Given the description of an element on the screen output the (x, y) to click on. 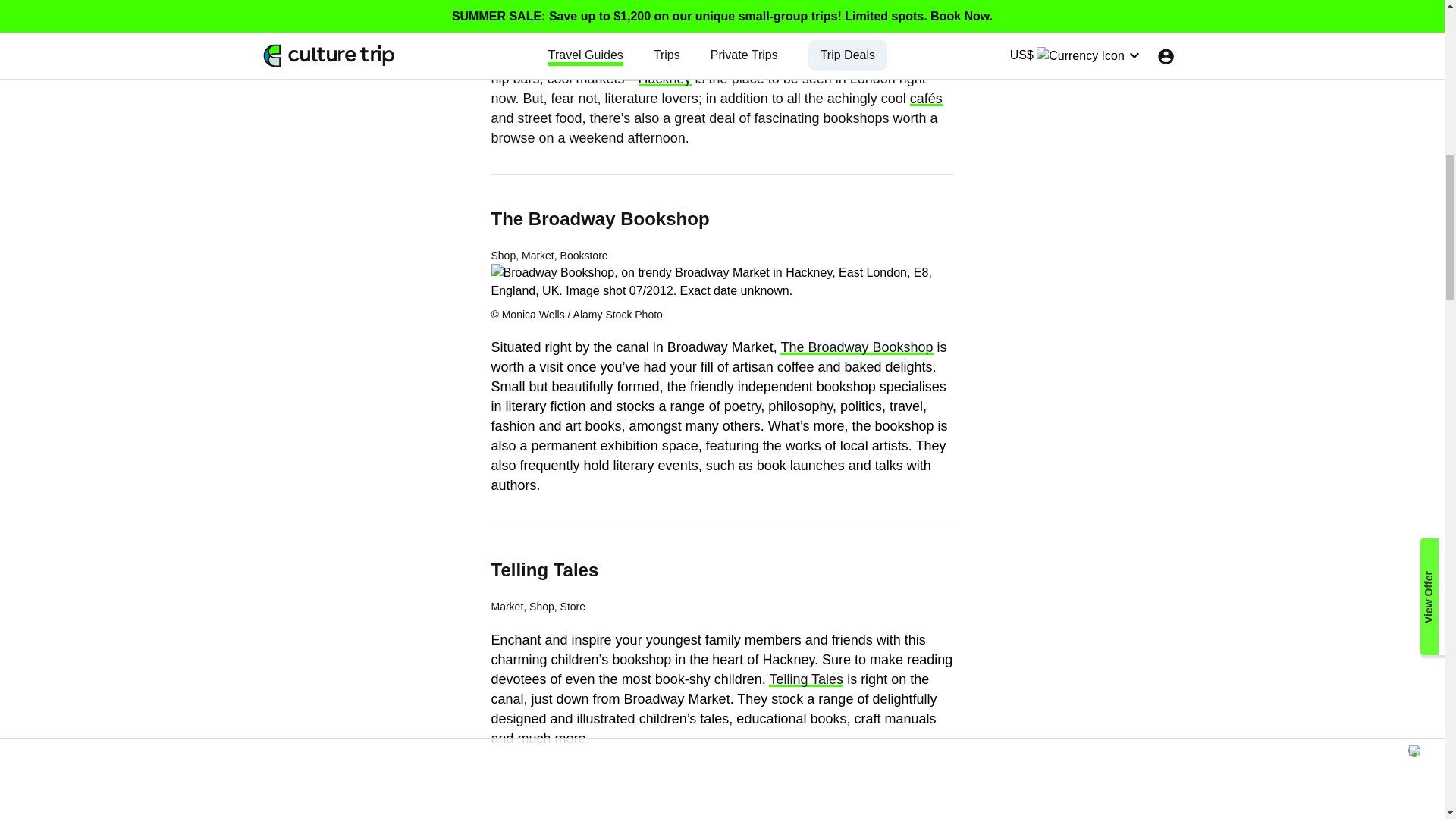
Hackney (665, 78)
Telling Tales (805, 679)
The Broadway Bookshop (856, 346)
02 October 2017 (364, 18)
